Given the description of an element on the screen output the (x, y) to click on. 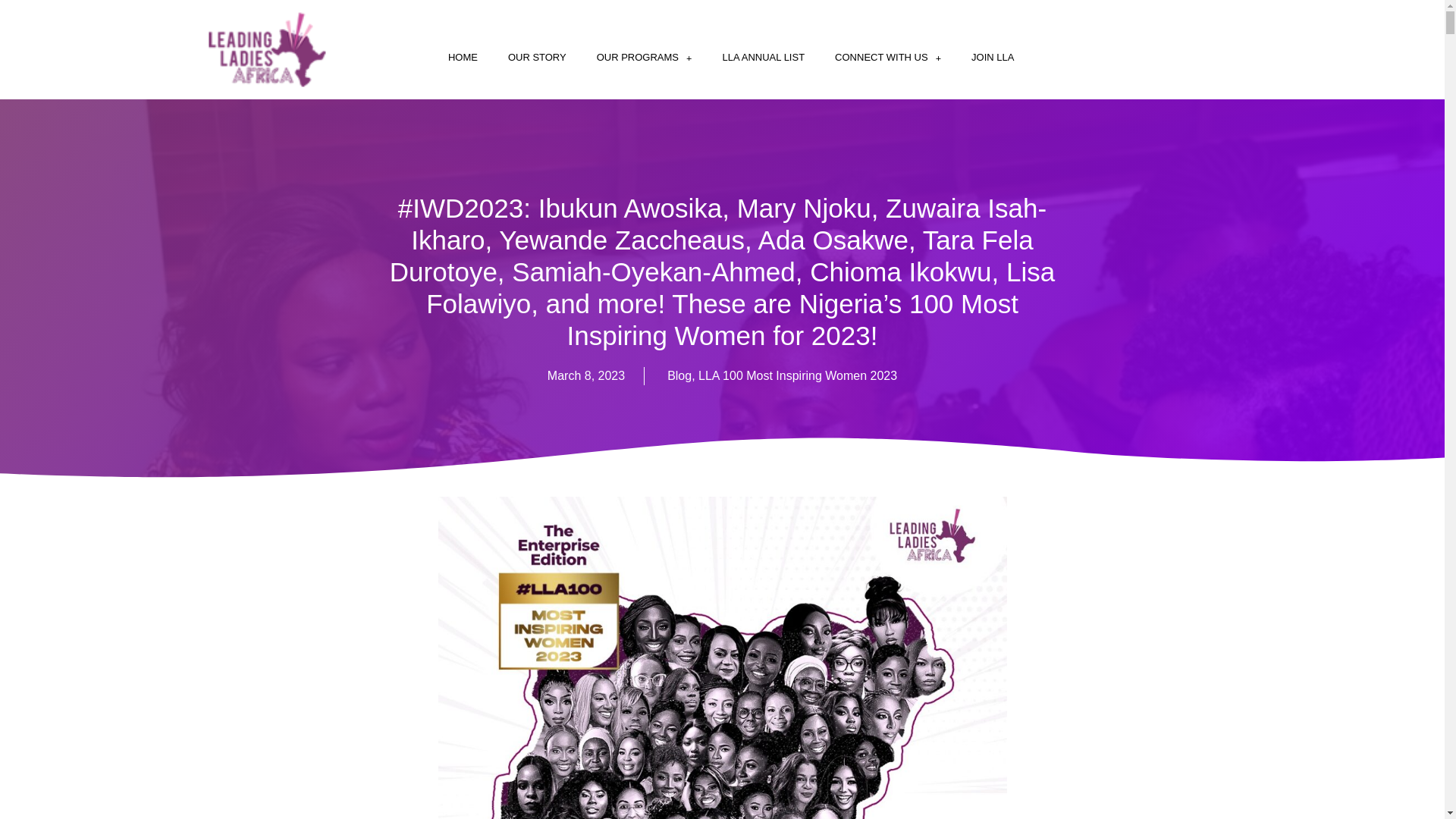
HOME (462, 57)
OUR PROGRAMS (643, 57)
LLA 100 Most Inspiring Women 2023 (797, 375)
March 8, 2023 (585, 375)
JOIN LLA (992, 57)
OUR STORY (536, 57)
LLA ANNUAL LIST (762, 57)
CONNECT WITH US (887, 57)
Blog (678, 375)
